Given the description of an element on the screen output the (x, y) to click on. 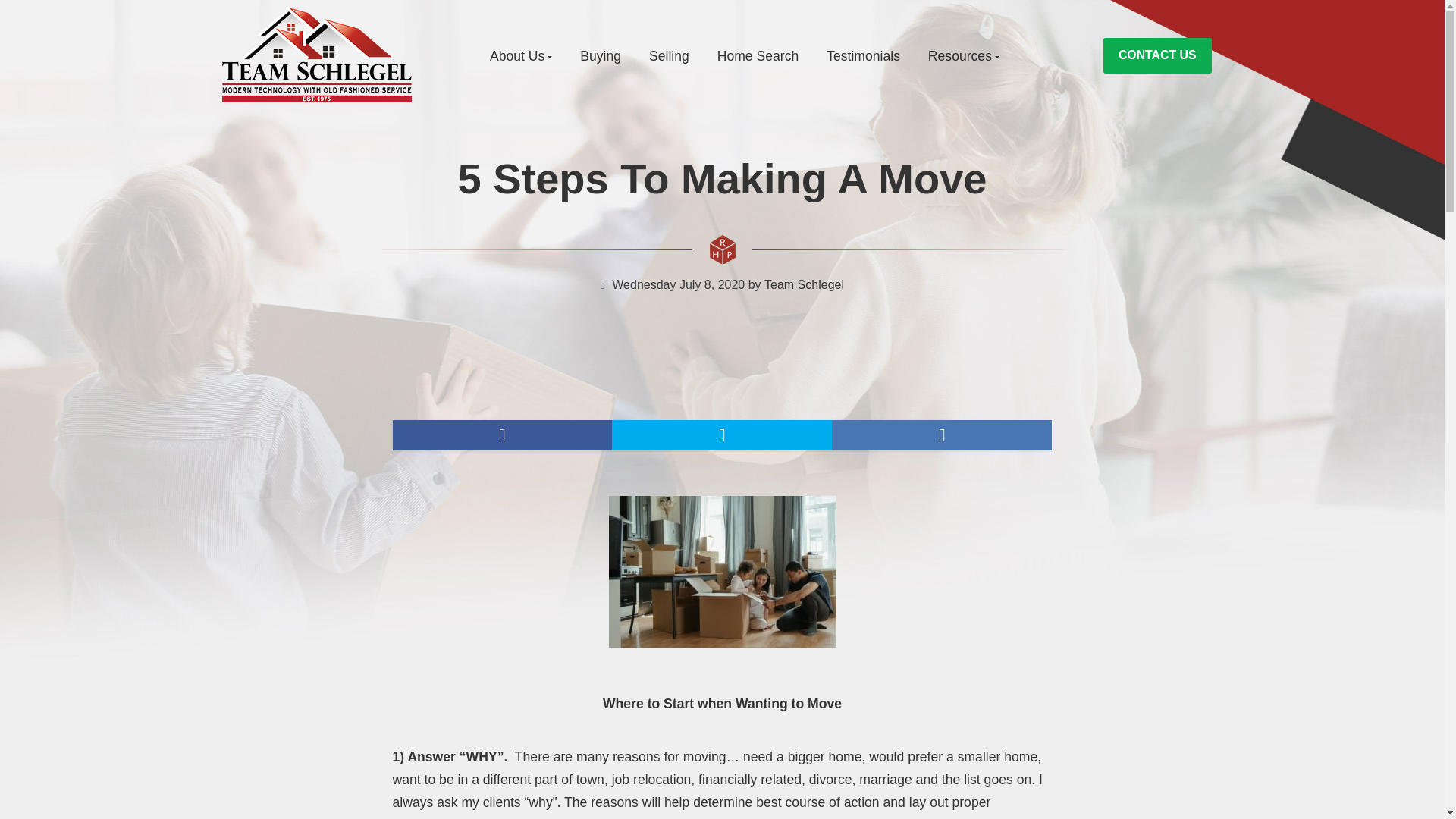
Selling (669, 56)
Buying (600, 56)
Resources (963, 56)
Home Search (758, 56)
About Us (520, 56)
CONTACT US (1157, 55)
Testimonials (863, 56)
About Us (520, 56)
Buying (600, 56)
Testimonials (863, 56)
Contact Us (1157, 55)
Resources (963, 56)
Home Search (758, 56)
Selling (669, 56)
